Given the description of an element on the screen output the (x, y) to click on. 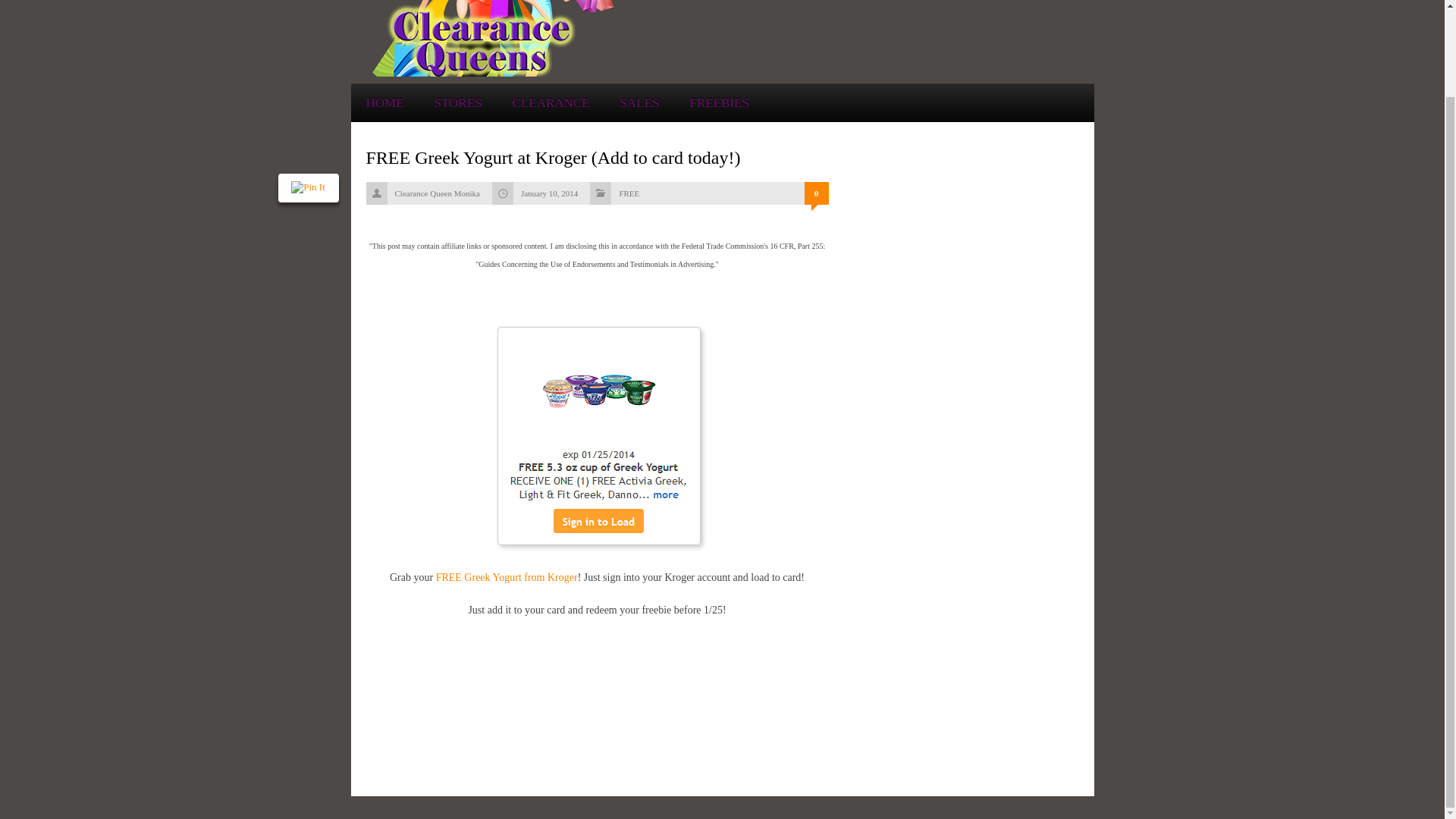
Clearance Queen Monika (436, 193)
FREE Greek Yogurt from Kroger (506, 577)
Pin It (307, 88)
Posts by Clearance Queen Monika (436, 193)
FREE (628, 193)
HOME (384, 102)
CLEARANCE (550, 102)
SALES (639, 102)
FREEBIES (719, 102)
STORES (457, 102)
